Given the description of an element on the screen output the (x, y) to click on. 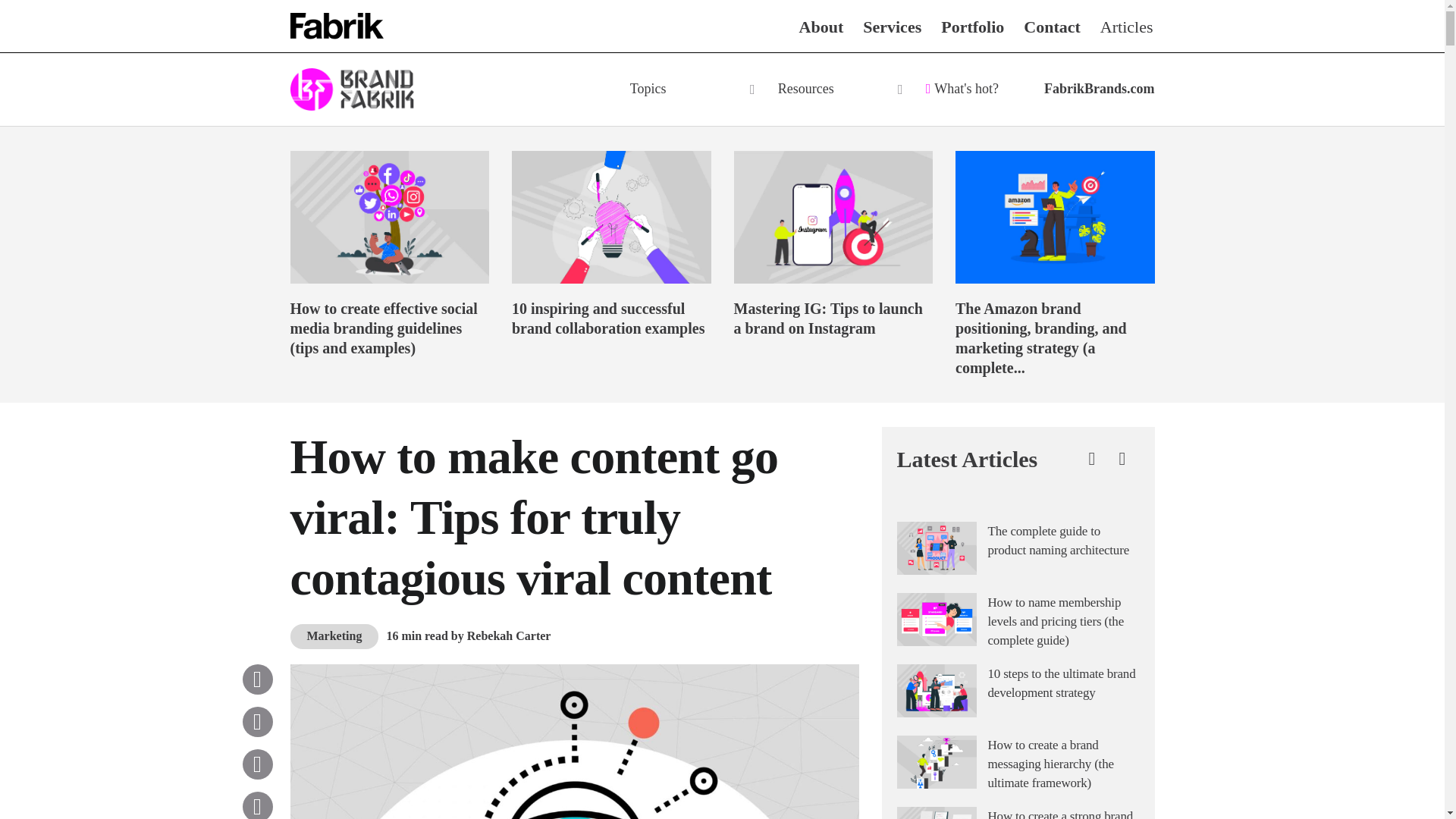
Services (892, 26)
About (821, 26)
Portfolio (972, 26)
